Given the description of an element on the screen output the (x, y) to click on. 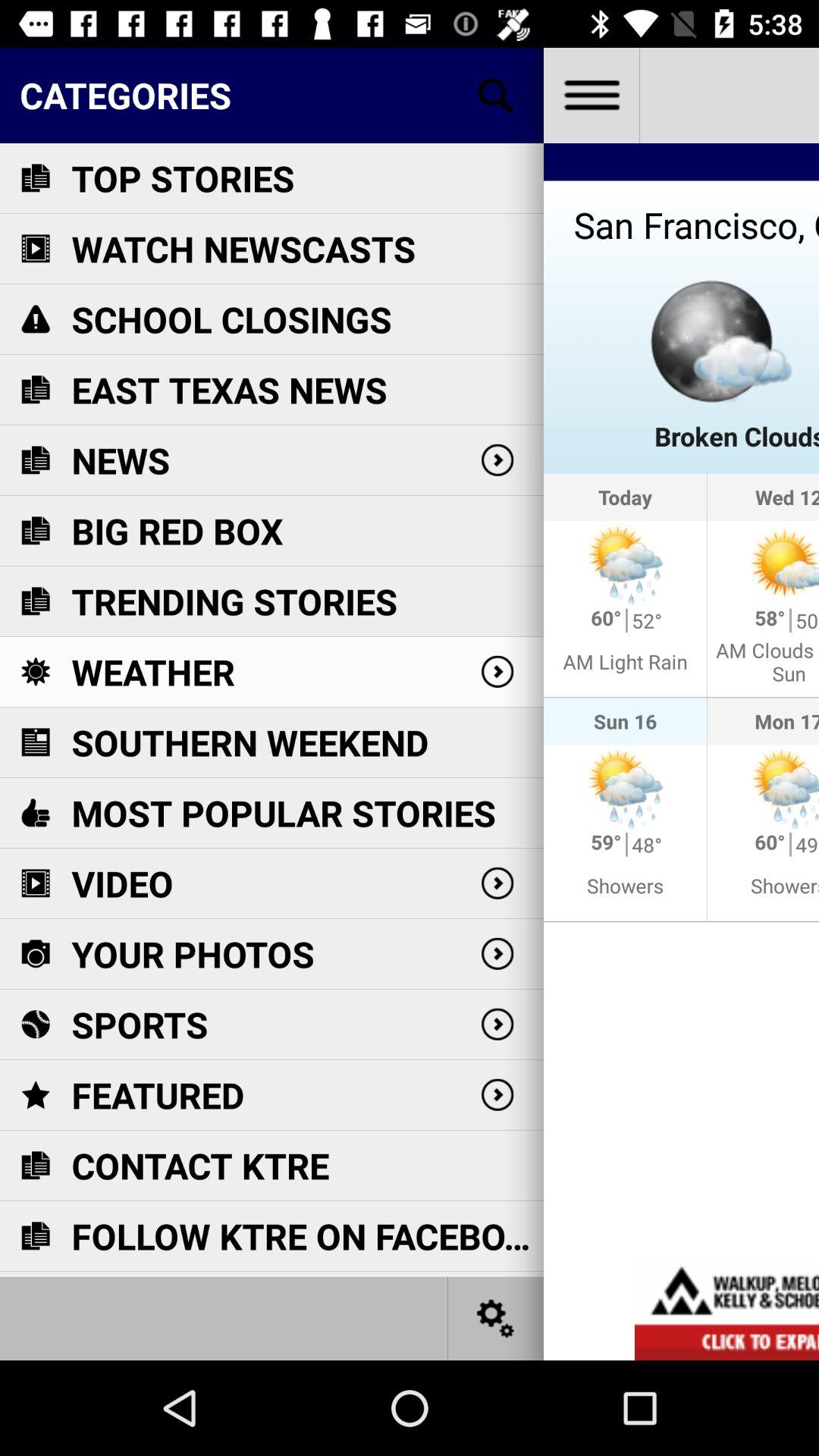
click bottom advertisement (726, 1310)
